Given the description of an element on the screen output the (x, y) to click on. 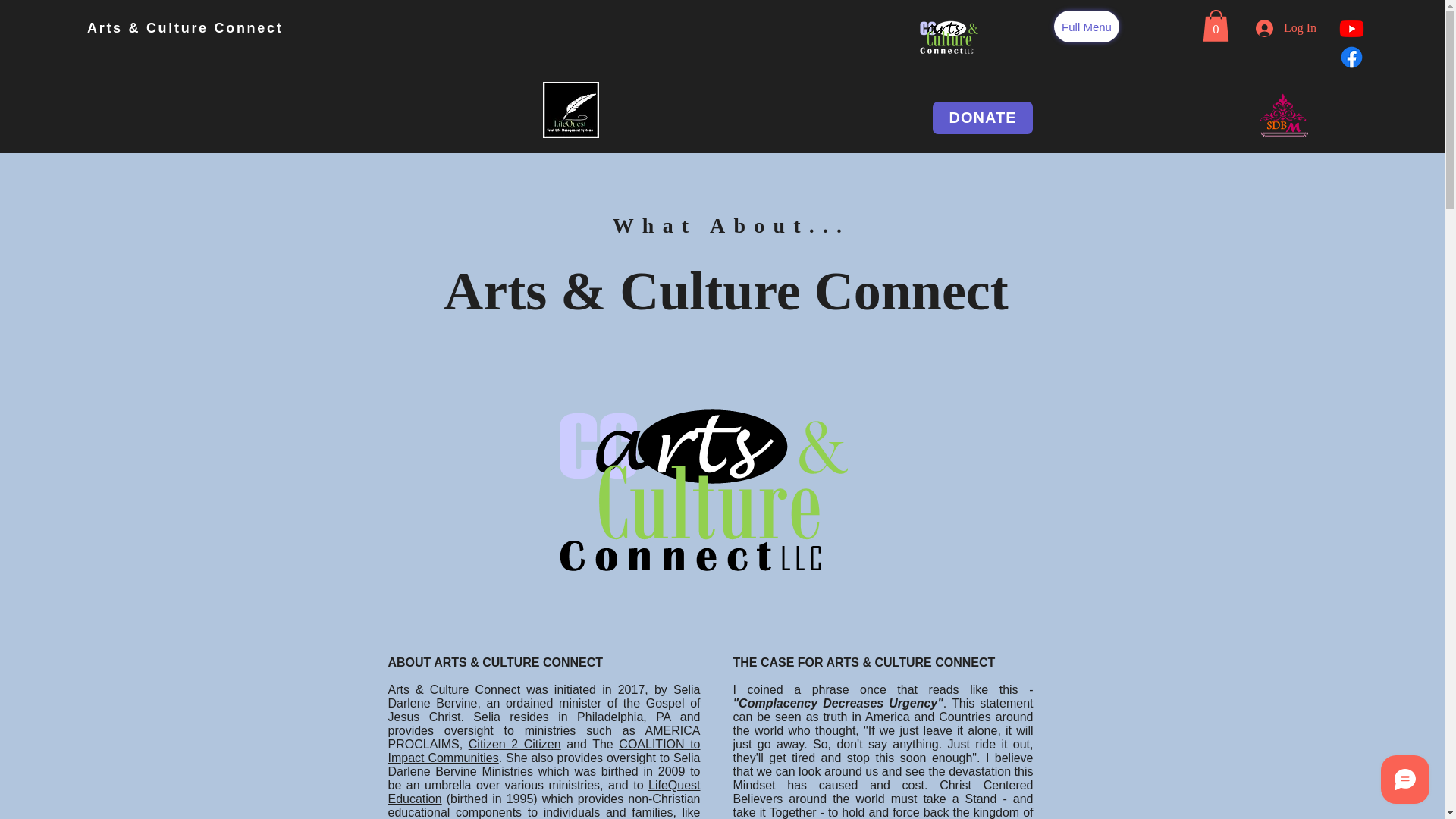
LifeQuest Education (544, 791)
Citizen 2 Citizen (514, 744)
Log In (1285, 28)
COALITION to Impact Communities (544, 750)
DONATE (982, 117)
Full Menu (1086, 26)
